Given the description of an element on the screen output the (x, y) to click on. 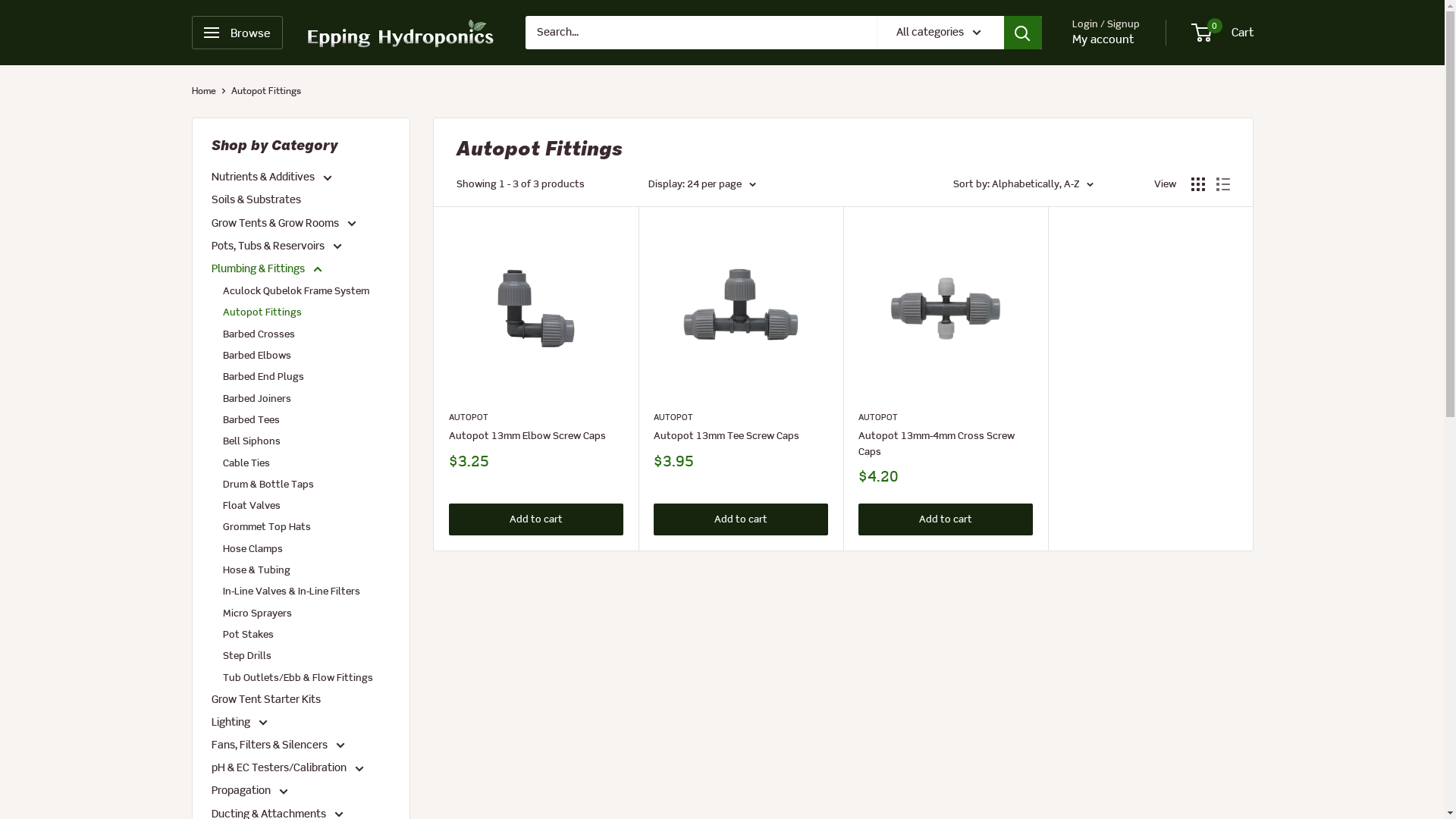
Cable Ties Element type: text (306, 462)
Autopot Fittings Element type: text (306, 312)
AUTOPOT Element type: text (535, 417)
AUTOPOT Element type: text (740, 417)
0
Cart Element type: text (1222, 32)
My account Element type: text (1102, 39)
AUTOPOT Element type: text (945, 417)
Plumbing & Fittings Element type: text (299, 268)
Add to cart Element type: text (945, 519)
Propagation Element type: text (299, 790)
Pots, Tubs & Reservoirs Element type: text (299, 246)
Barbed Elbows Element type: text (306, 355)
Autopot 13mm Tee Screw Caps Element type: text (740, 435)
Browse Element type: text (236, 32)
Float Valves Element type: text (306, 505)
Display: 24 per page Element type: text (701, 184)
Barbed Crosses Element type: text (306, 334)
In-Line Valves & In-Line Filters Element type: text (306, 591)
Autopot Fittings Element type: text (265, 90)
Home Element type: text (203, 90)
Autopot 13mm-4mm Cross Screw Caps Element type: text (945, 443)
Grow Tent Starter Kits Element type: text (299, 699)
Hose & Tubing Element type: text (306, 569)
Add to cart Element type: text (535, 519)
Juddery Pty Ltd Element type: text (399, 32)
Aculock Qubelok Frame System Element type: text (306, 290)
Barbed Tees Element type: text (306, 419)
Grow Tents & Grow Rooms Element type: text (299, 223)
pH & EC Testers/Calibration Element type: text (299, 767)
Sort by: Alphabetically, A-Z Element type: text (1022, 184)
Tub Outlets/Ebb & Flow Fittings Element type: text (306, 677)
Barbed End Plugs Element type: text (306, 376)
Drum & Bottle Taps Element type: text (306, 484)
Fans, Filters & Silencers Element type: text (299, 745)
Soils & Substrates Element type: text (299, 199)
Pot Stakes Element type: text (306, 634)
Nutrients & Additives Element type: text (299, 177)
Add to cart Element type: text (740, 519)
Lighting Element type: text (299, 722)
Bell Siphons Element type: text (306, 440)
Hose Clamps Element type: text (306, 548)
Autopot 13mm Elbow Screw Caps Element type: text (535, 435)
Micro Sprayers Element type: text (306, 613)
Step Drills Element type: text (306, 655)
Barbed Joiners Element type: text (306, 398)
Grommet Top Hats Element type: text (306, 526)
